Given the description of an element on the screen output the (x, y) to click on. 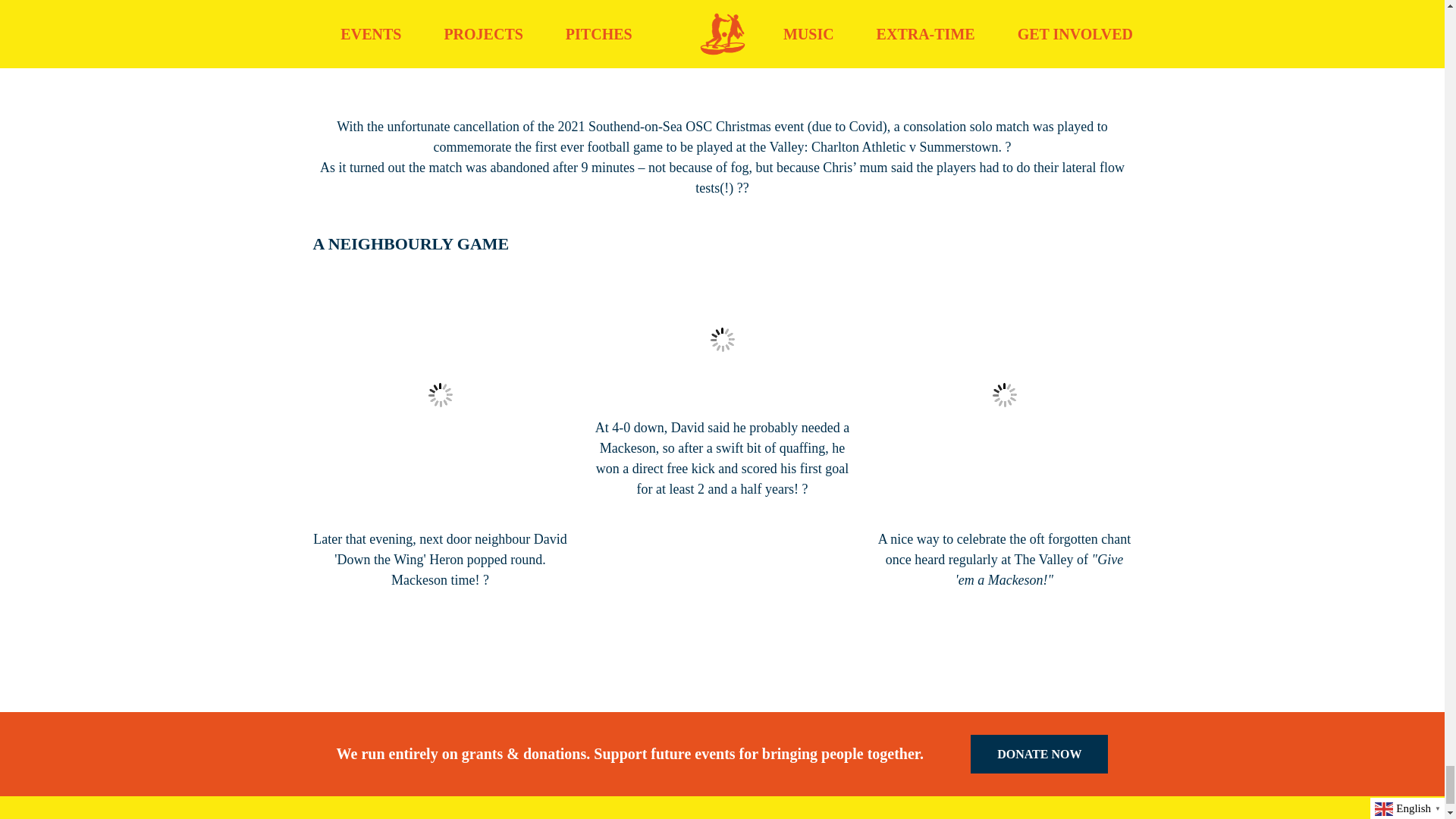
DONATE NOW (1039, 753)
Charlton v Summerstown (722, 54)
Direct free kick (721, 339)
